Given the description of an element on the screen output the (x, y) to click on. 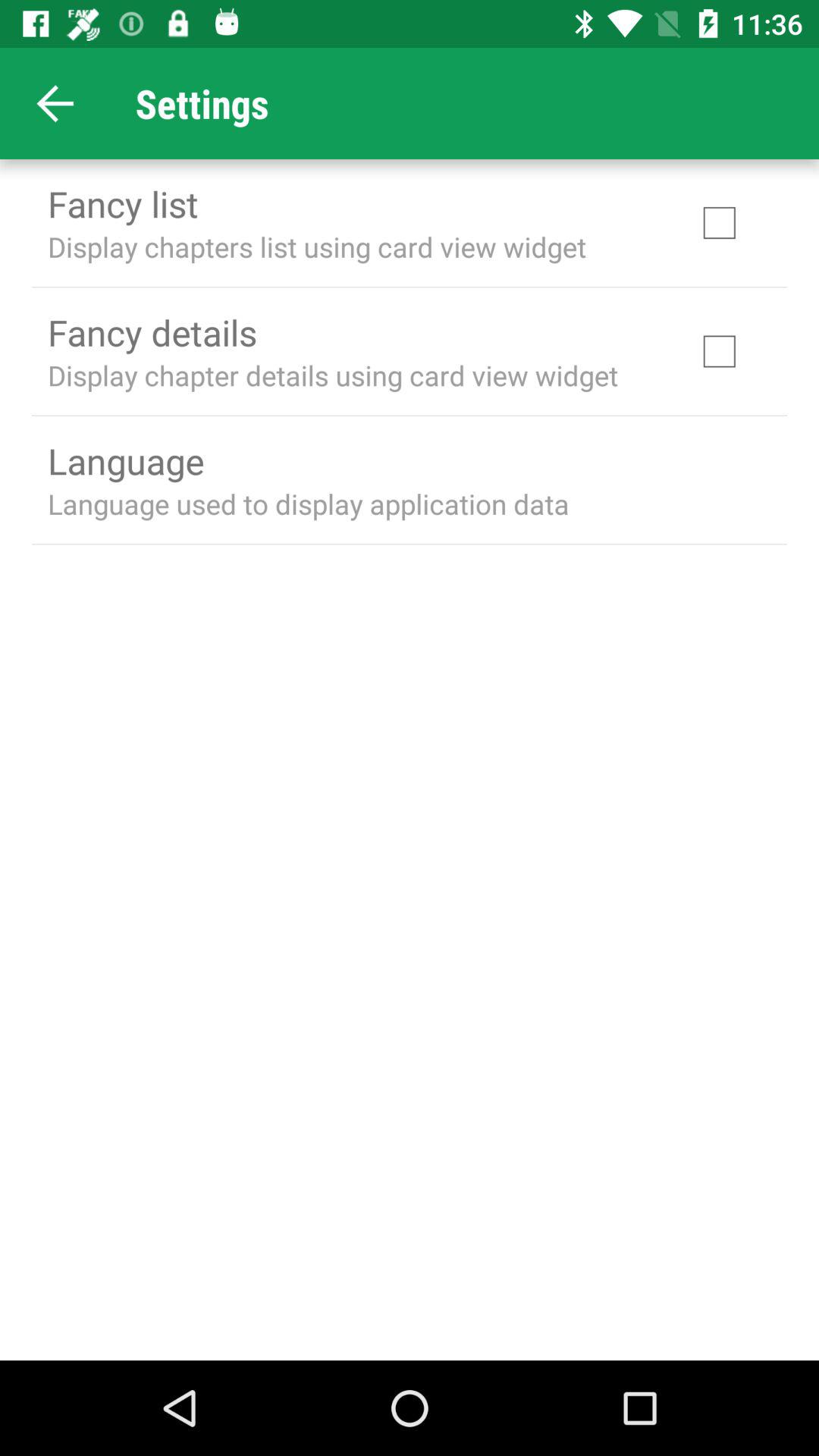
turn on icon below language app (308, 503)
